Given the description of an element on the screen output the (x, y) to click on. 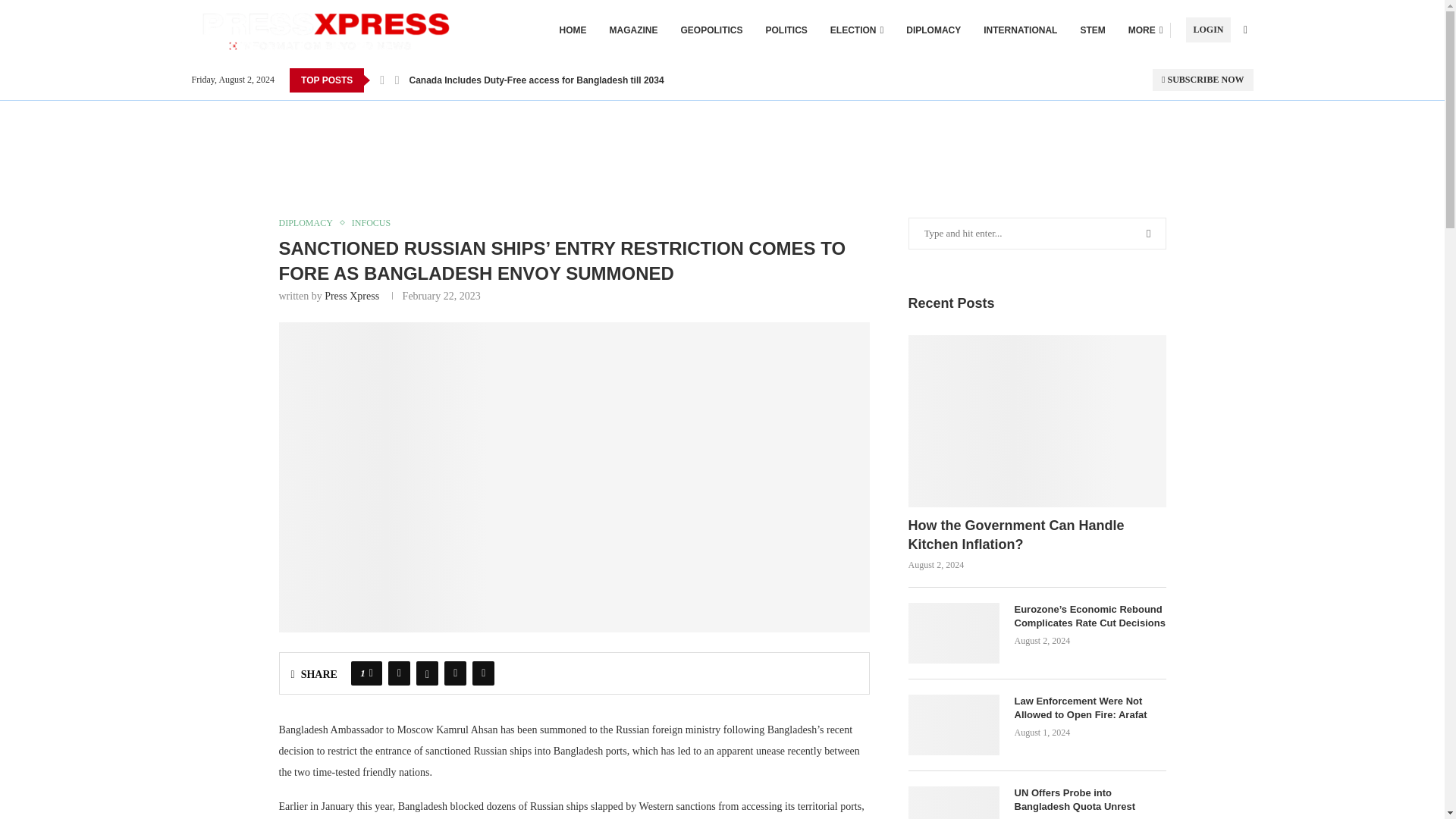
MAGAZINE (634, 30)
GEOPOLITICS (711, 30)
How the Government Can Handle Kitchen Inflation? (1037, 535)
How the Government Can Handle Kitchen Inflation? (1037, 420)
ELECTION (856, 30)
INTERNATIONAL (1020, 30)
POLITICS (786, 30)
DIPLOMACY (932, 30)
